Given the description of an element on the screen output the (x, y) to click on. 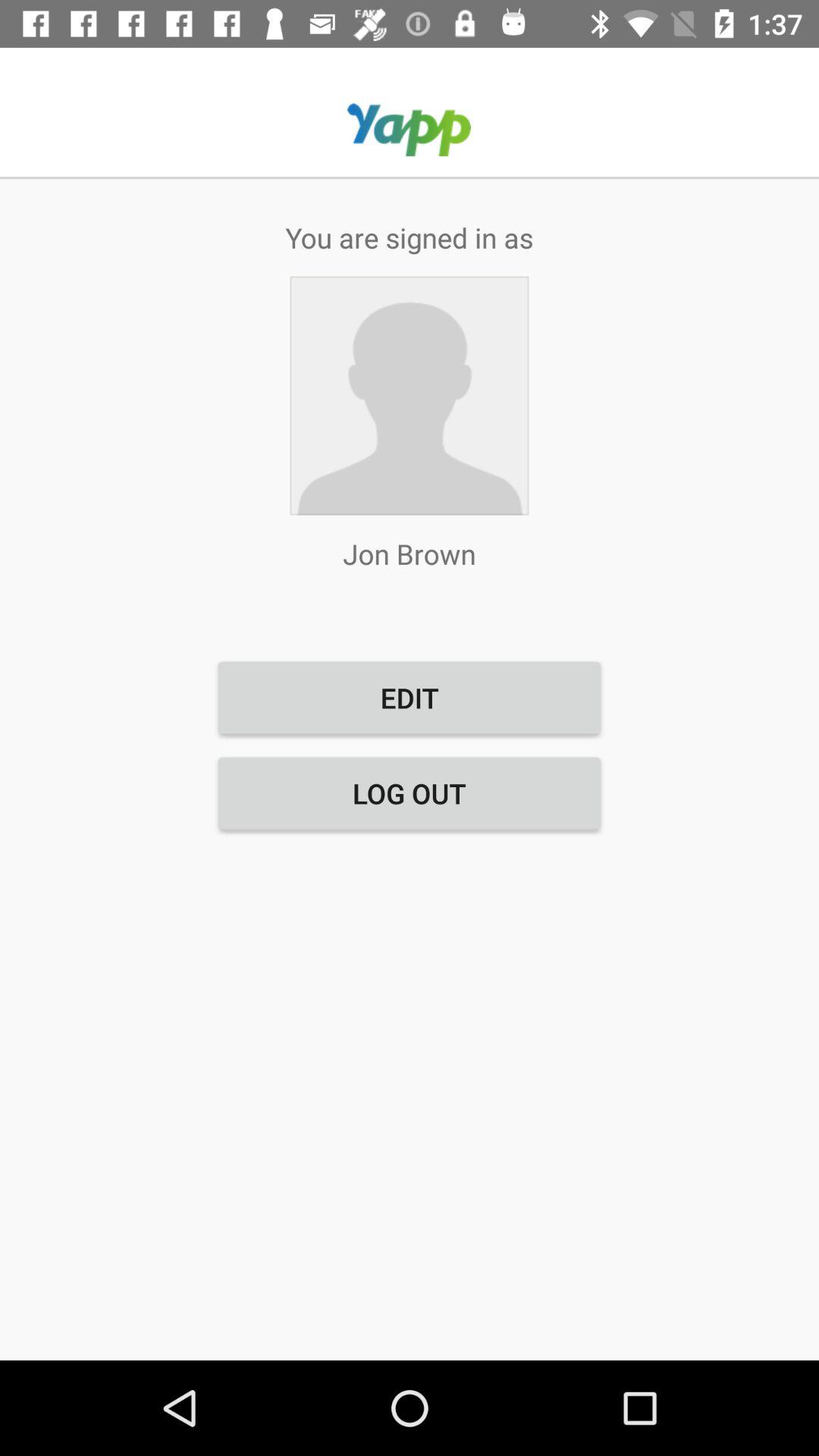
open item below jon brown app (409, 697)
